Given the description of an element on the screen output the (x, y) to click on. 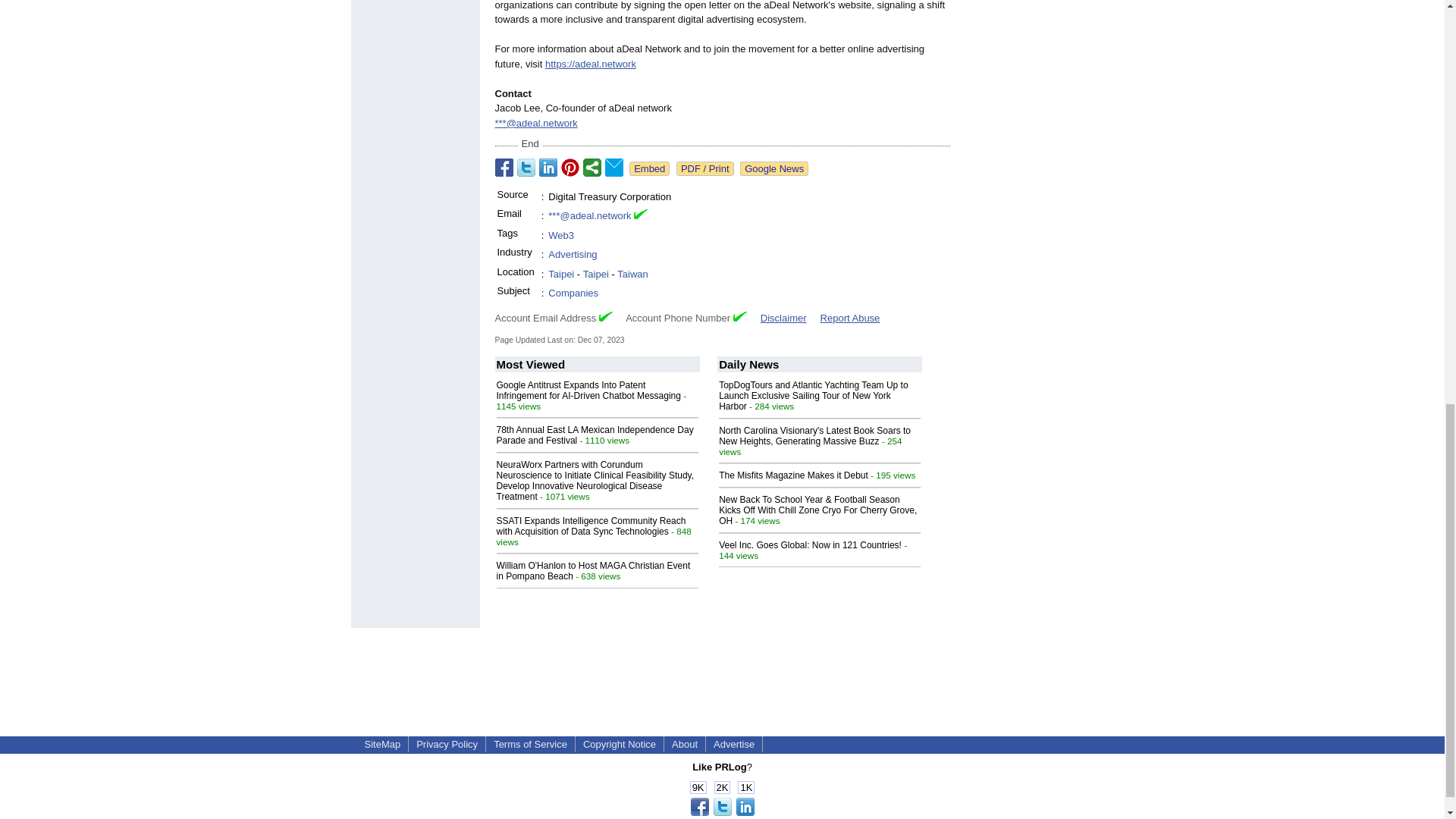
Share on Facebook (503, 167)
Share on LinkedIn (547, 167)
Email Verified (640, 215)
Embed (648, 168)
Share on Twitter (525, 167)
Verified (605, 316)
Email to a Friend (614, 167)
Share on Pinterest (569, 167)
See or print the PDF version! (705, 168)
Share on StumbleUpon, Digg, etc (590, 167)
